Given the description of an element on the screen output the (x, y) to click on. 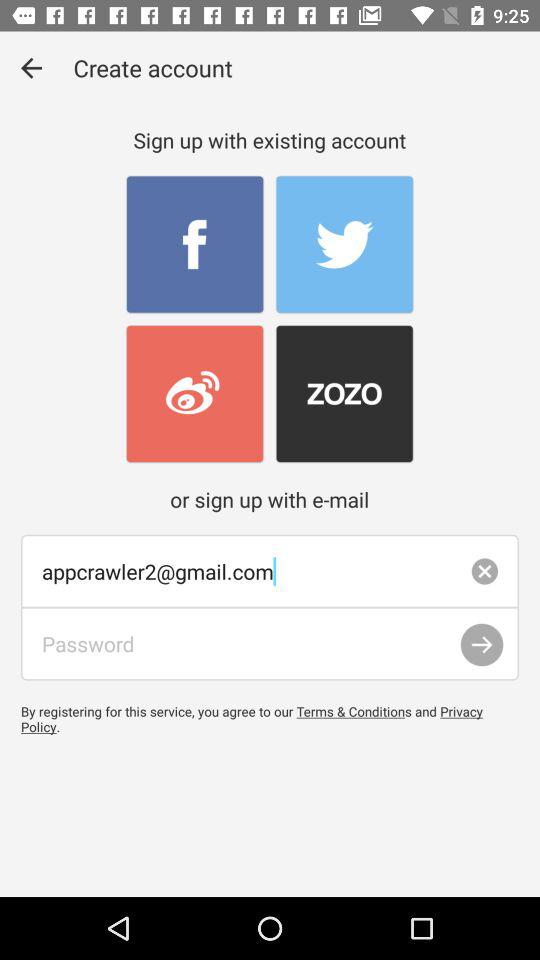
go to twiter page (344, 244)
